Given the description of an element on the screen output the (x, y) to click on. 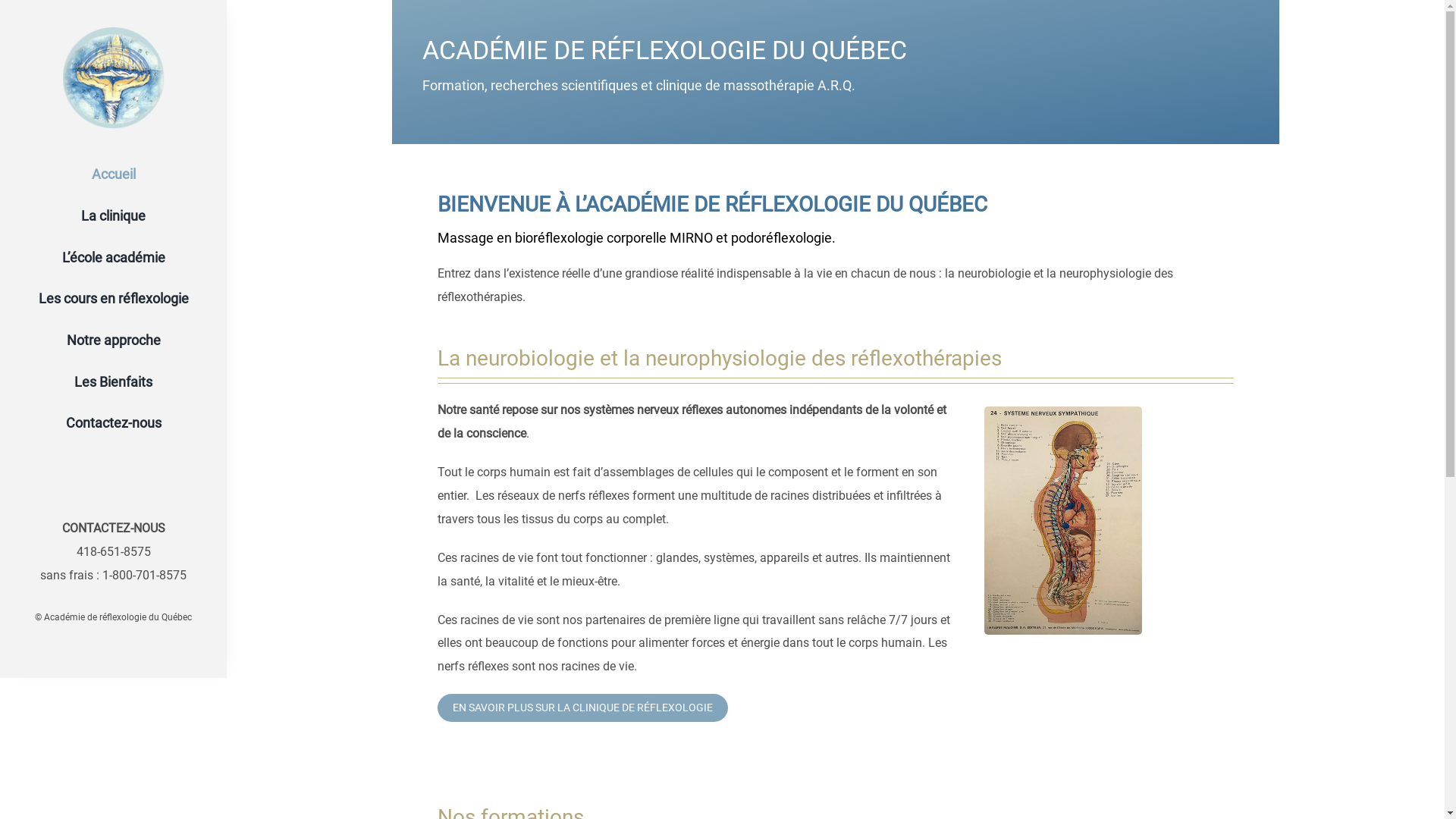
Contactez-nous Element type: text (113, 423)
Notre approche Element type: text (113, 340)
Les Bienfaits Element type: text (113, 382)
Accueil Element type: text (113, 174)
La clinique Element type: text (113, 216)
